Given the description of an element on the screen output the (x, y) to click on. 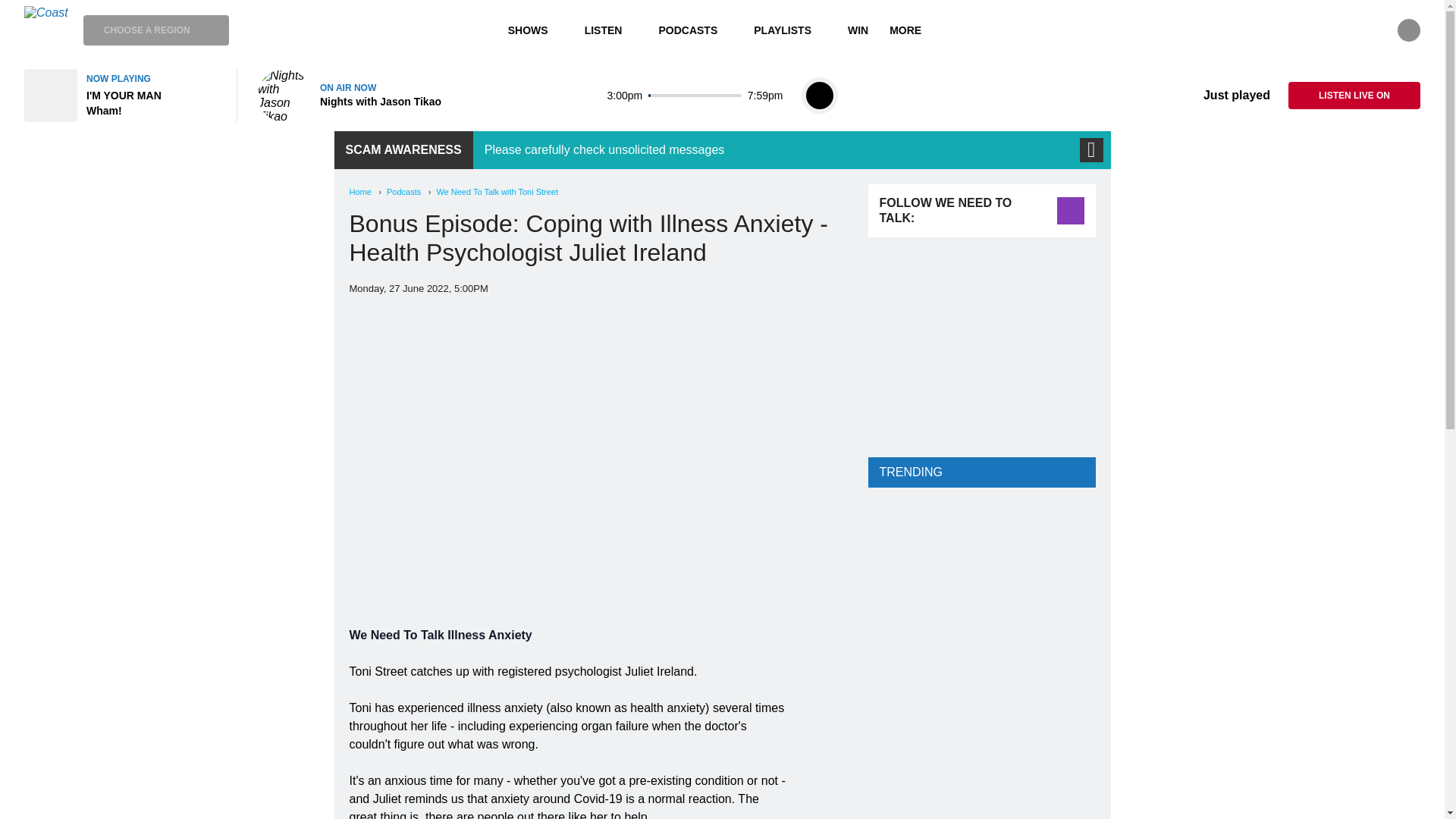
CHOOSE A REGION (155, 30)
LISTEN (610, 30)
Listen to I'M YOUR MAN by Wham! (121, 95)
Coast (46, 29)
SHOWS (535, 30)
Just played (1225, 95)
